Given the description of an element on the screen output the (x, y) to click on. 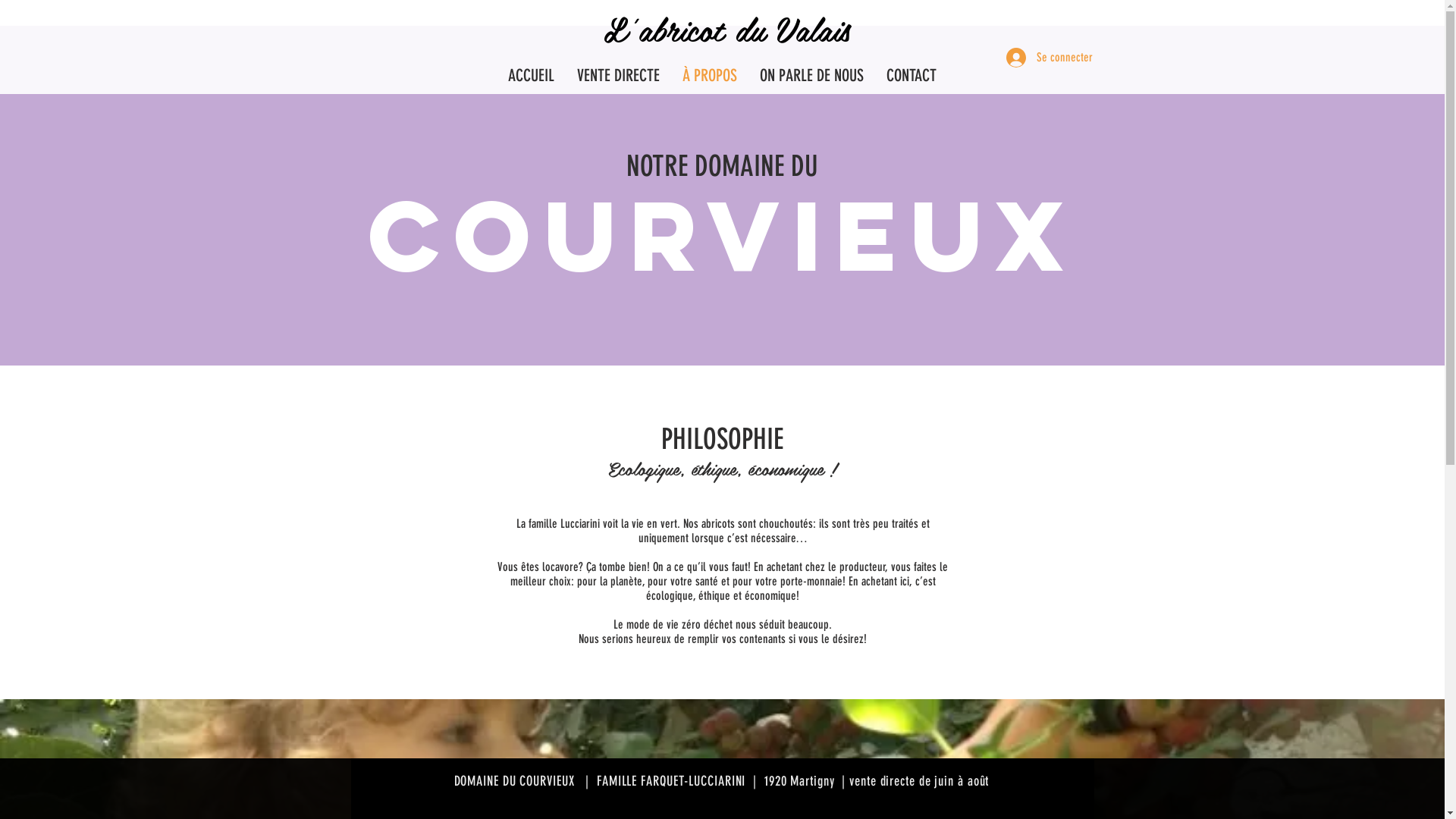
CONTACT Element type: text (911, 75)
L'abricot du Valais Element type: text (726, 28)
ON PARLE DE NOUS Element type: text (811, 75)
ACCUEIL Element type: text (530, 75)
Se connecter Element type: text (1039, 57)
VENTE DIRECTE Element type: text (618, 75)
